Given the description of an element on the screen output the (x, y) to click on. 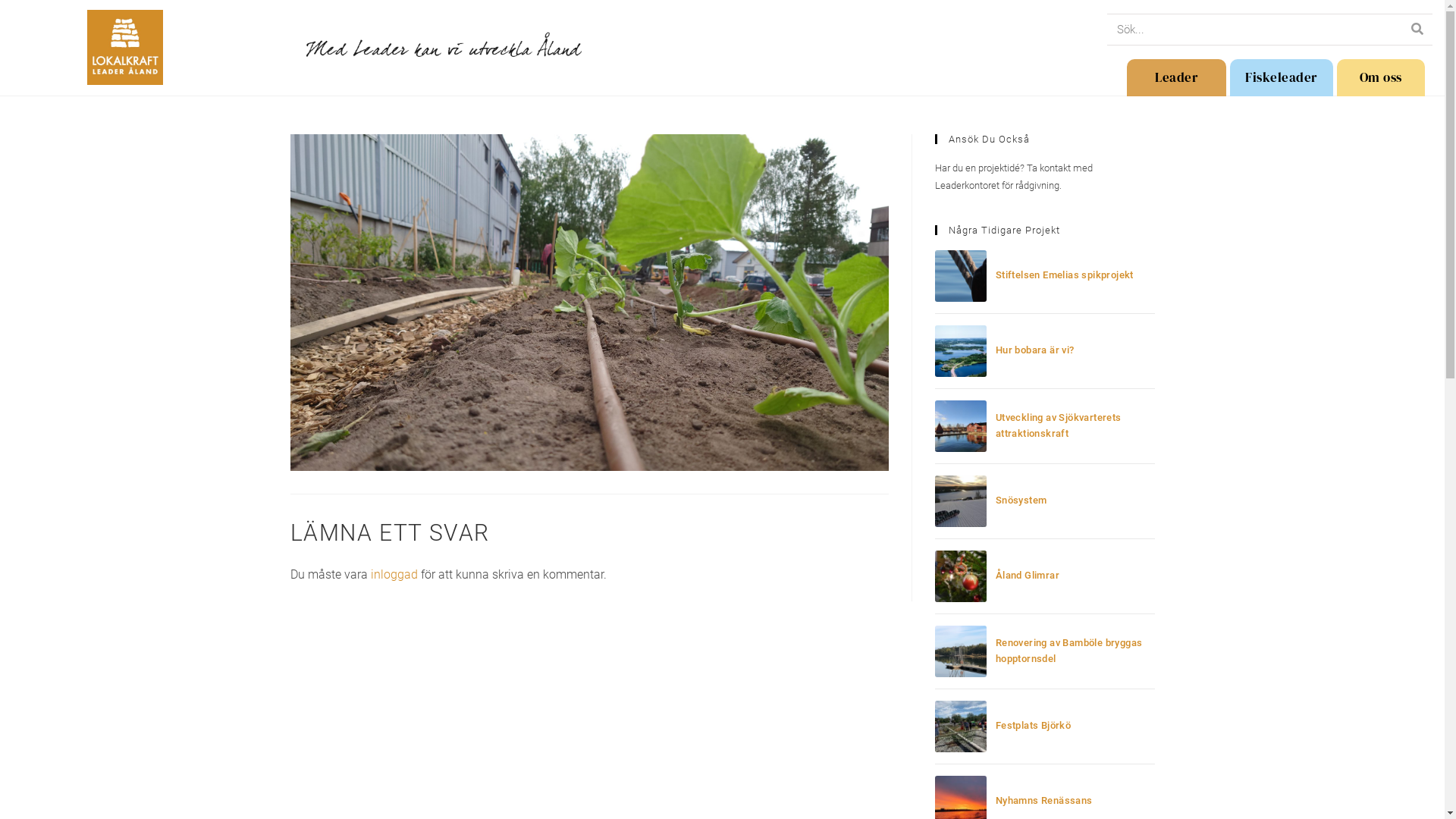
Stiftelsen Emelias spikprojekt Element type: text (1064, 274)
Om oss Element type: text (1380, 77)
Fiskeleader Element type: text (1281, 77)
Stiftelsen Emelias spikprojekt Element type: hover (960, 275)
inloggad Element type: text (393, 574)
Leader Element type: text (1176, 77)
